Given the description of an element on the screen output the (x, y) to click on. 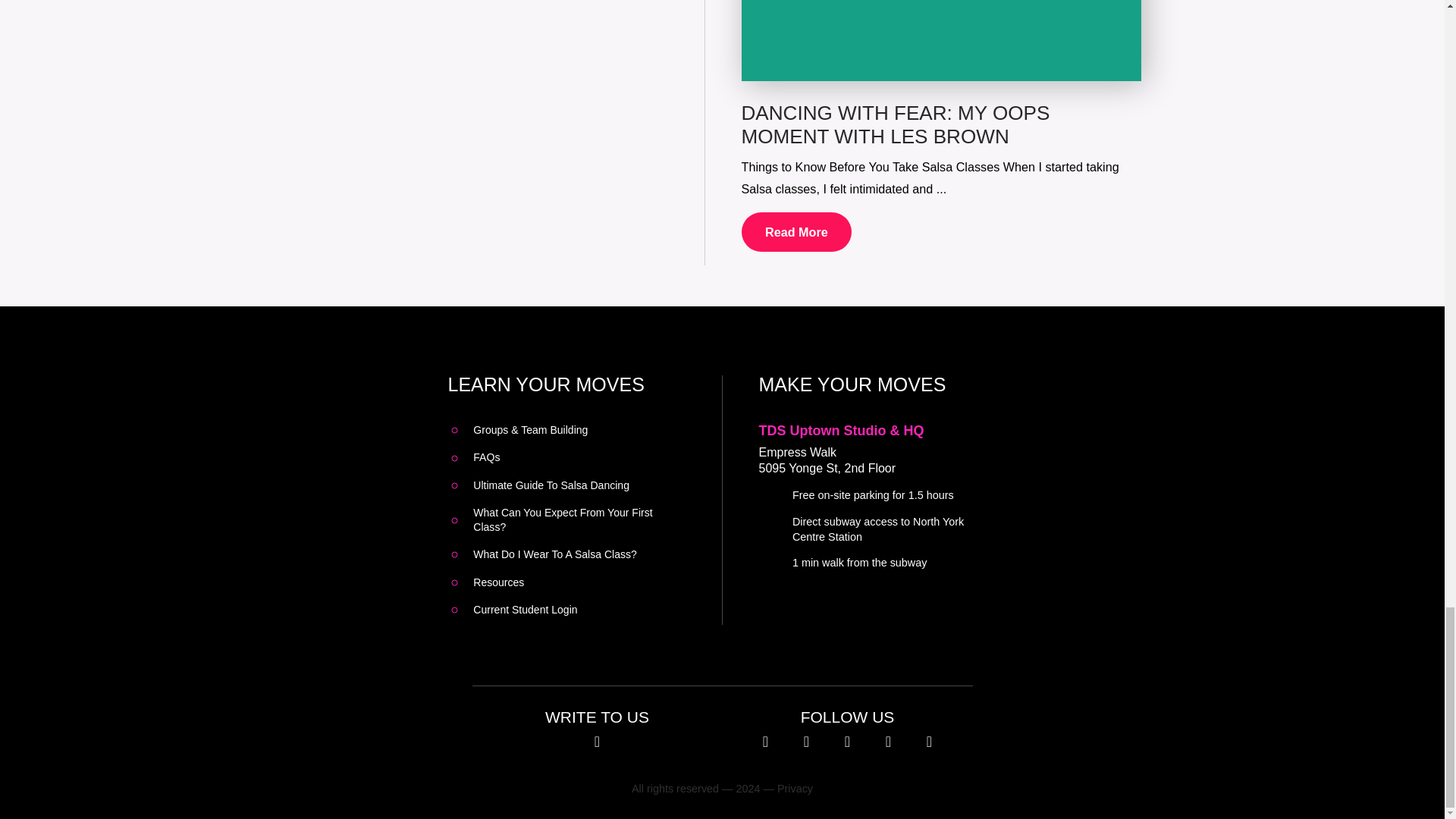
Read More (796, 231)
Privacy (794, 788)
Current Student Login (524, 609)
FAQs (486, 457)
DANCING WITH FEAR: MY OOPS MOMENT WITH LES BROWN (895, 124)
What Do I Wear To A Salsa Class? (555, 554)
Resources (498, 581)
What Can You Expect From Your First Class? (578, 519)
Ultimate Guide To Salsa Dancing (550, 485)
